Given the description of an element on the screen output the (x, y) to click on. 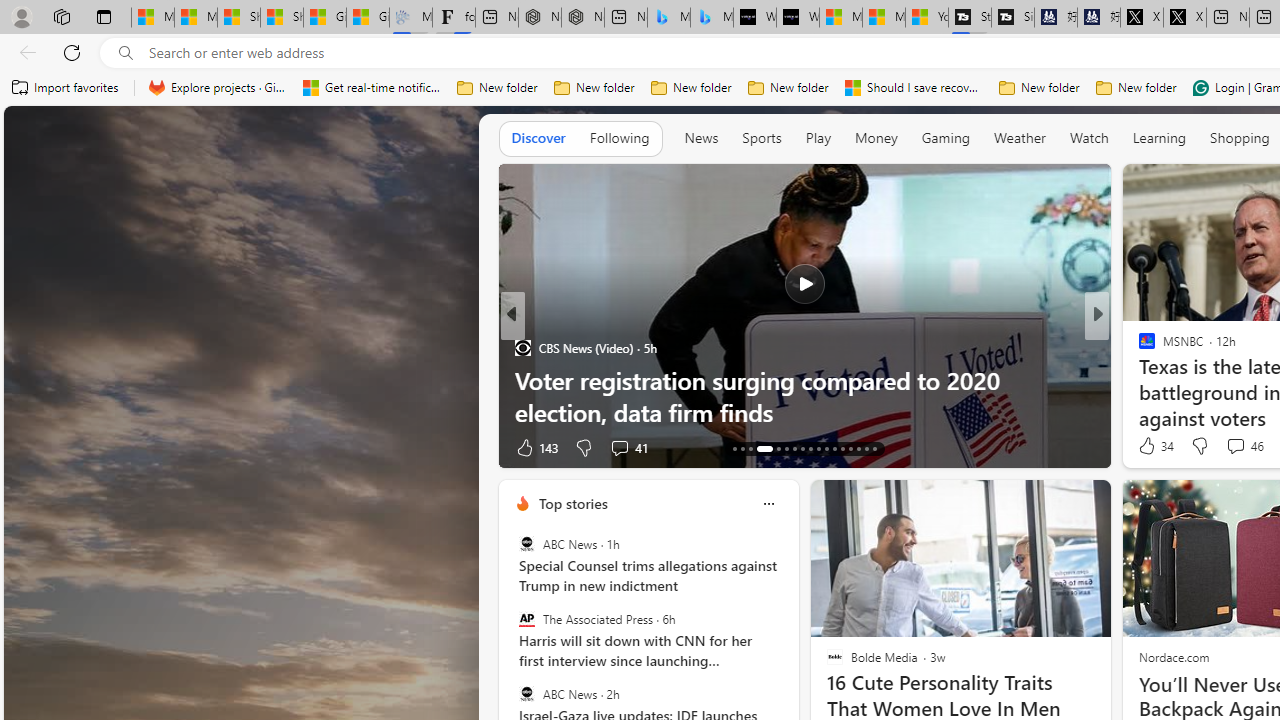
View comments 107 Comment (1229, 447)
AutomationID: tab-13 (733, 448)
Microsoft Bing Travel - Shangri-La Hotel Bangkok (712, 17)
New folder (1136, 88)
View comments 15 Comment (1229, 447)
Weather (1019, 138)
Gaming (945, 137)
AutomationID: tab-20 (801, 448)
View comments 41 Comment (11, 447)
34 Like (1154, 446)
Weather (1020, 137)
